Given the description of an element on the screen output the (x, y) to click on. 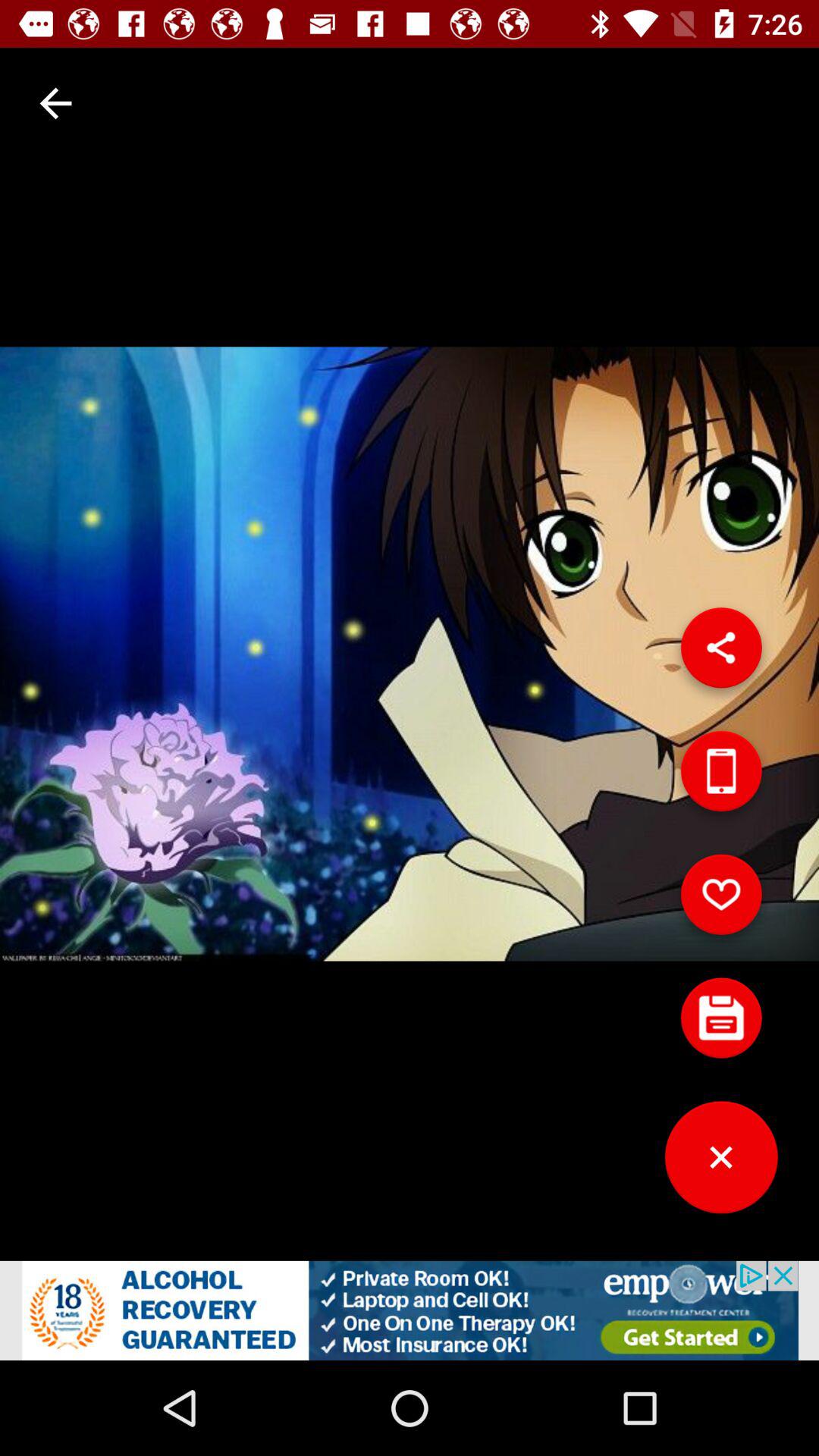
phone button (721, 776)
